Given the description of an element on the screen output the (x, y) to click on. 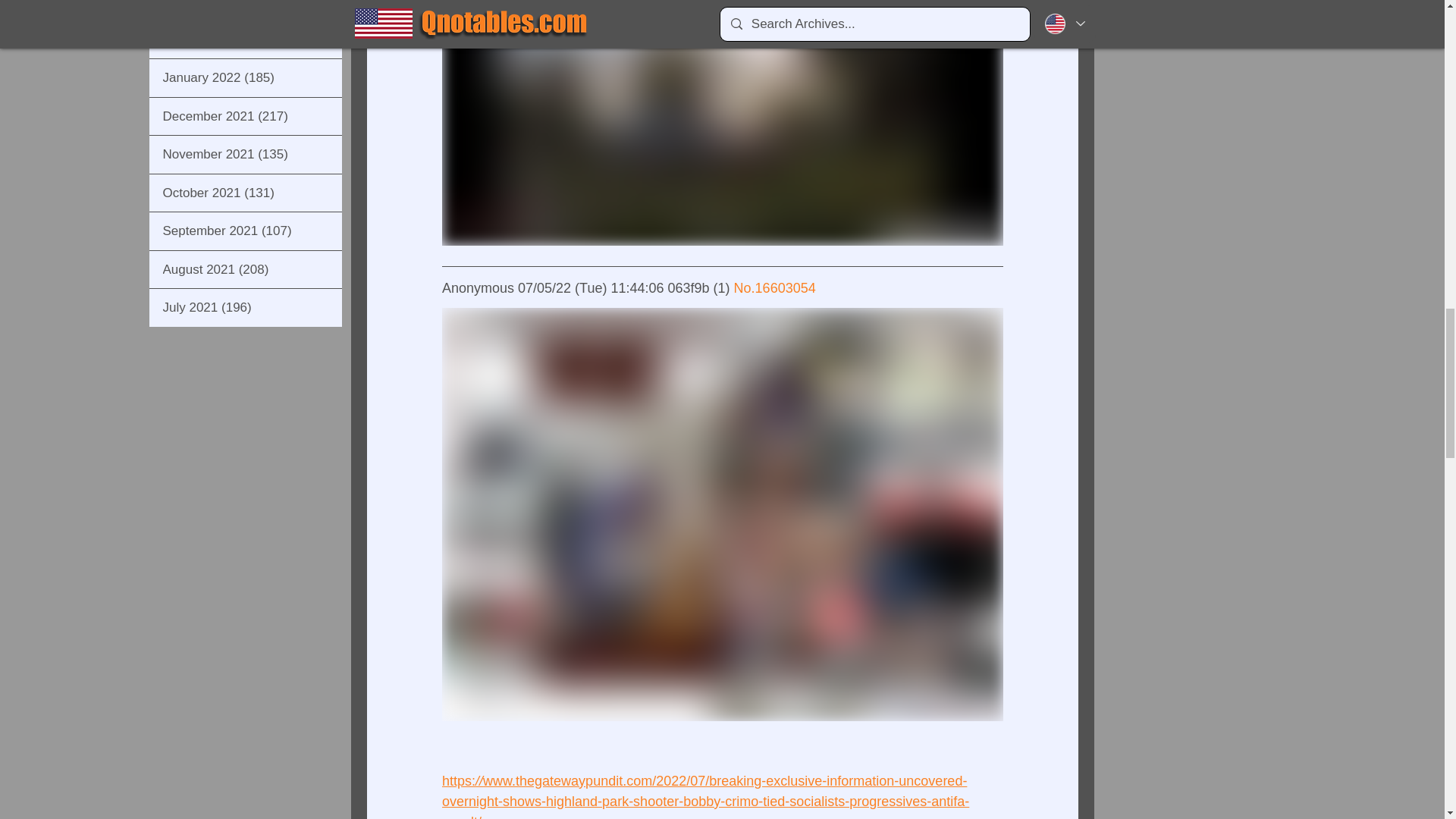
https: (457, 780)
16603054 (784, 287)
No. (743, 287)
